Given the description of an element on the screen output the (x, y) to click on. 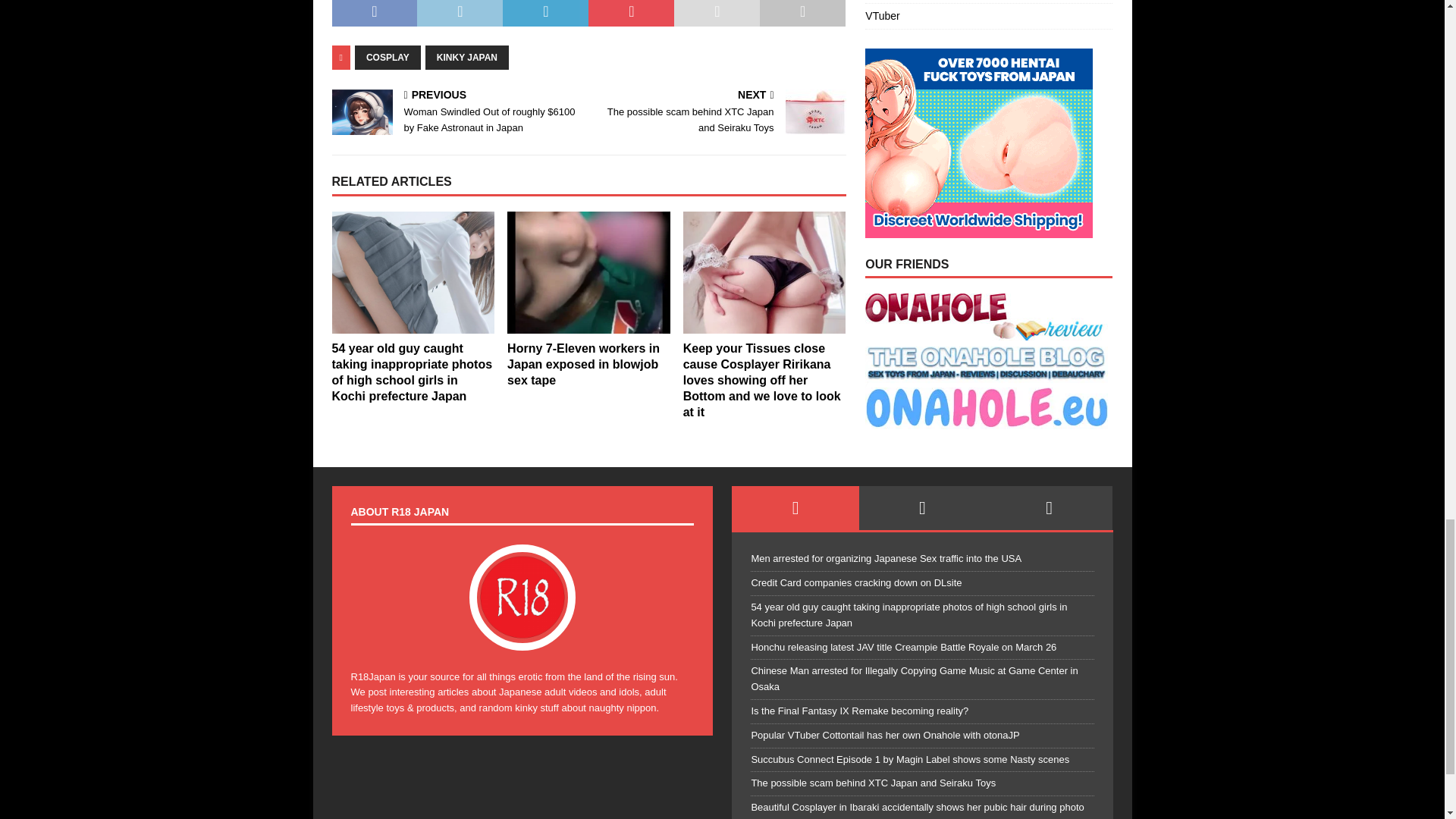
KINKY JAPAN (466, 57)
COSPLAY (387, 57)
